Given the description of an element on the screen output the (x, y) to click on. 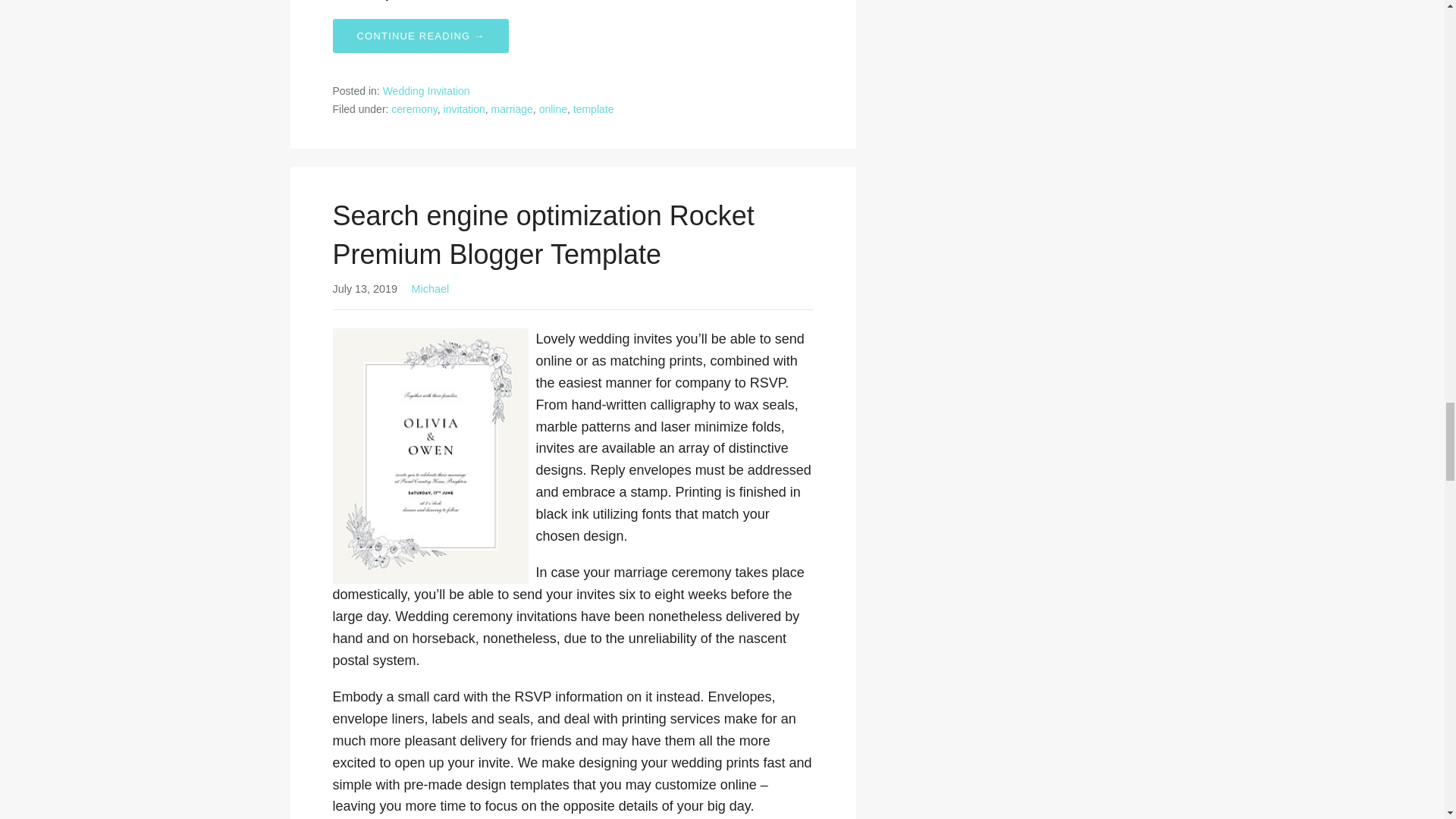
Posts by Michael (429, 288)
